Given the description of an element on the screen output the (x, y) to click on. 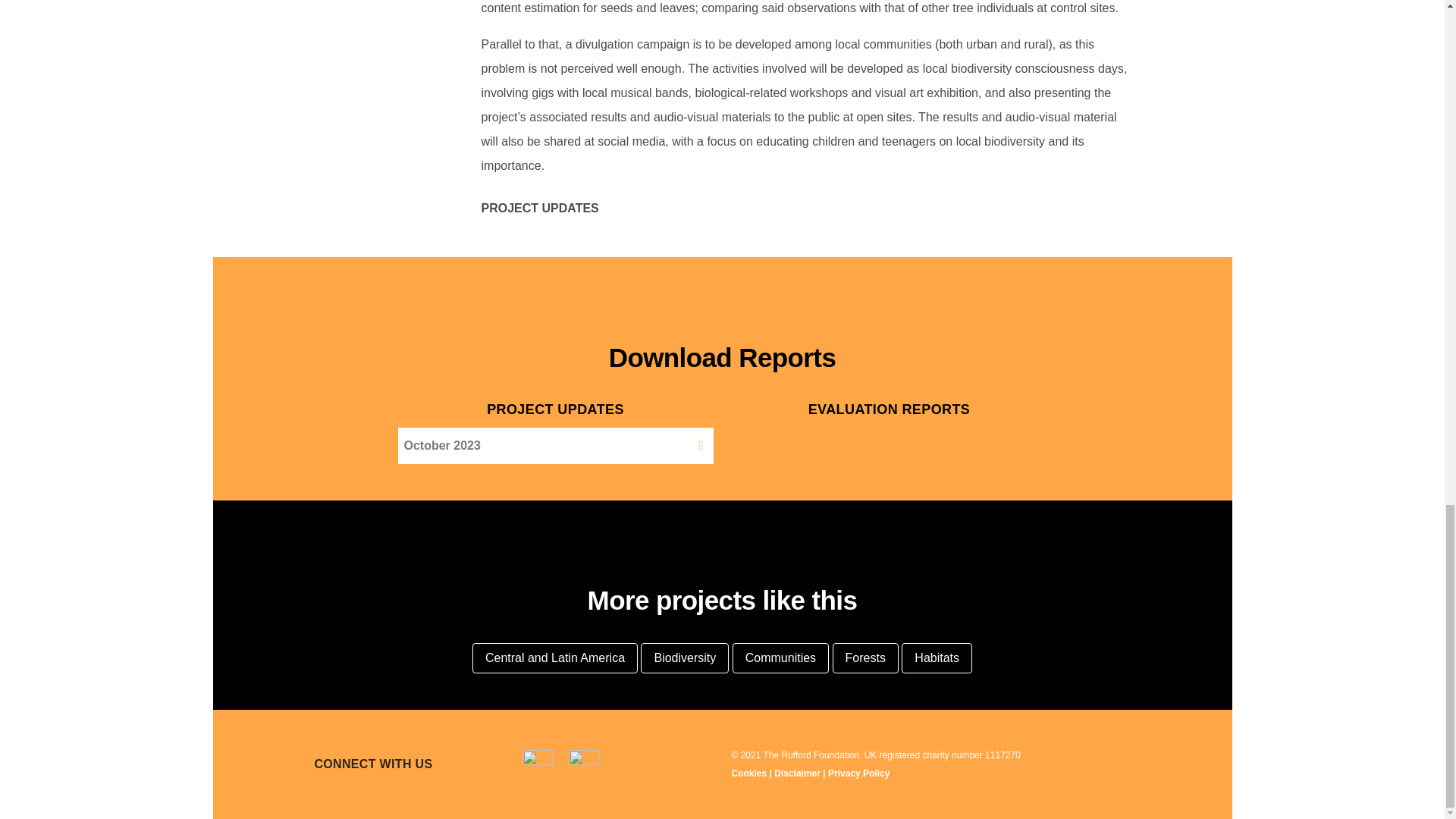
Disclaimer (797, 773)
Communities (780, 657)
The Rufford Foundation on Facebook (543, 760)
October 2023 (441, 445)
Biodiversity (684, 657)
The Rufford Foundation on Twitter (590, 760)
Privacy Policy (858, 773)
Habitats (936, 657)
Central and Latin America (554, 657)
October 2023 (441, 445)
